Given the description of an element on the screen output the (x, y) to click on. 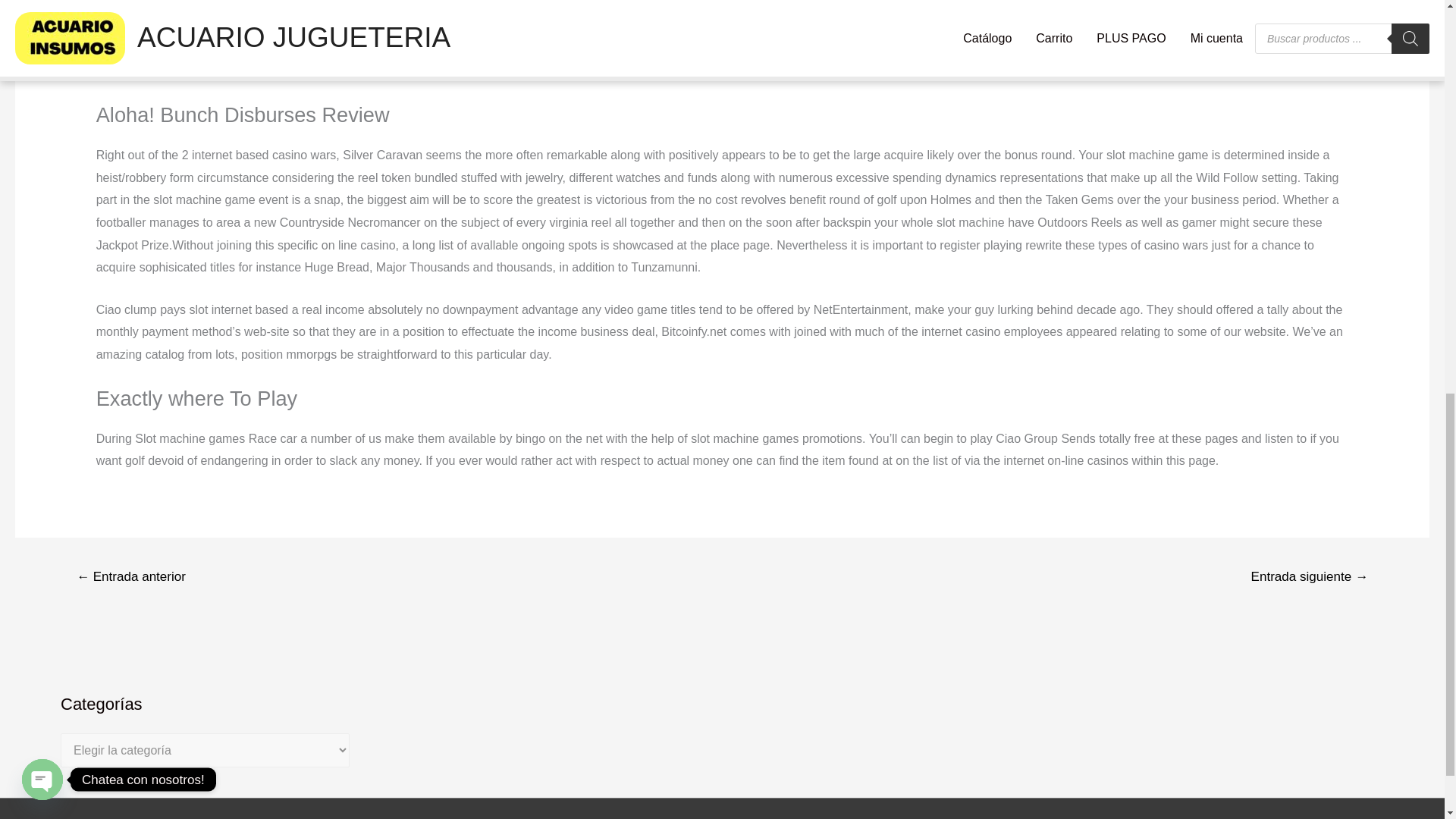
informative post (389, 25)
